Given the description of an element on the screen output the (x, y) to click on. 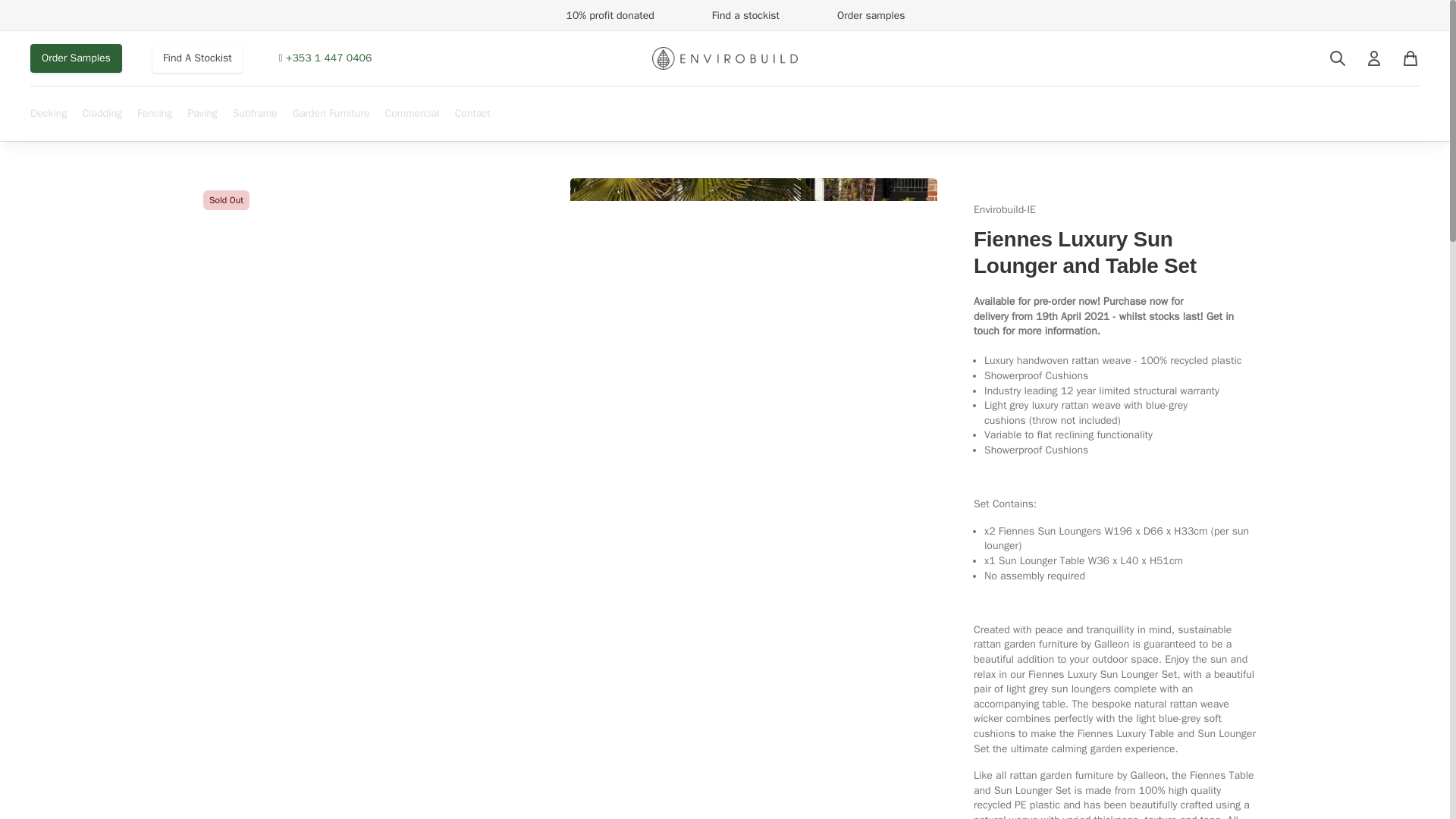
Contact (472, 113)
Commercial (412, 121)
Subframe (255, 121)
Decking (48, 121)
Commercial (412, 113)
Cladding (101, 121)
Search (1336, 58)
Order Samples (76, 58)
get in touch (1103, 324)
Paving (201, 113)
Find a stockist (734, 15)
Order samples (859, 15)
Decking (48, 113)
Find A Stockist (197, 58)
Fencing (153, 121)
